Given the description of an element on the screen output the (x, y) to click on. 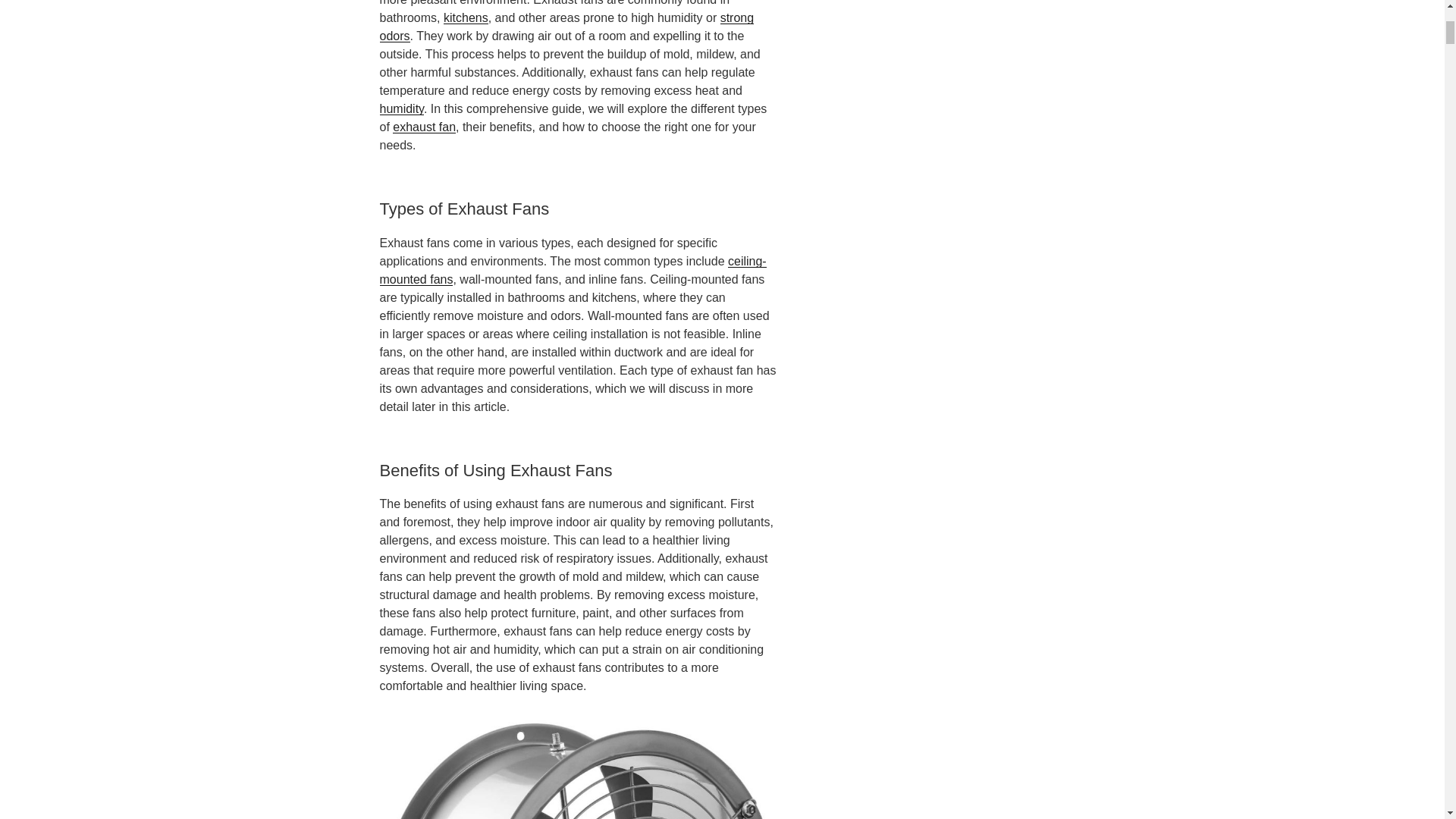
exhaust fan (424, 126)
kitchens (465, 17)
humidity (400, 108)
strong odors (566, 26)
ceiling-mounted fans (571, 269)
